Given the description of an element on the screen output the (x, y) to click on. 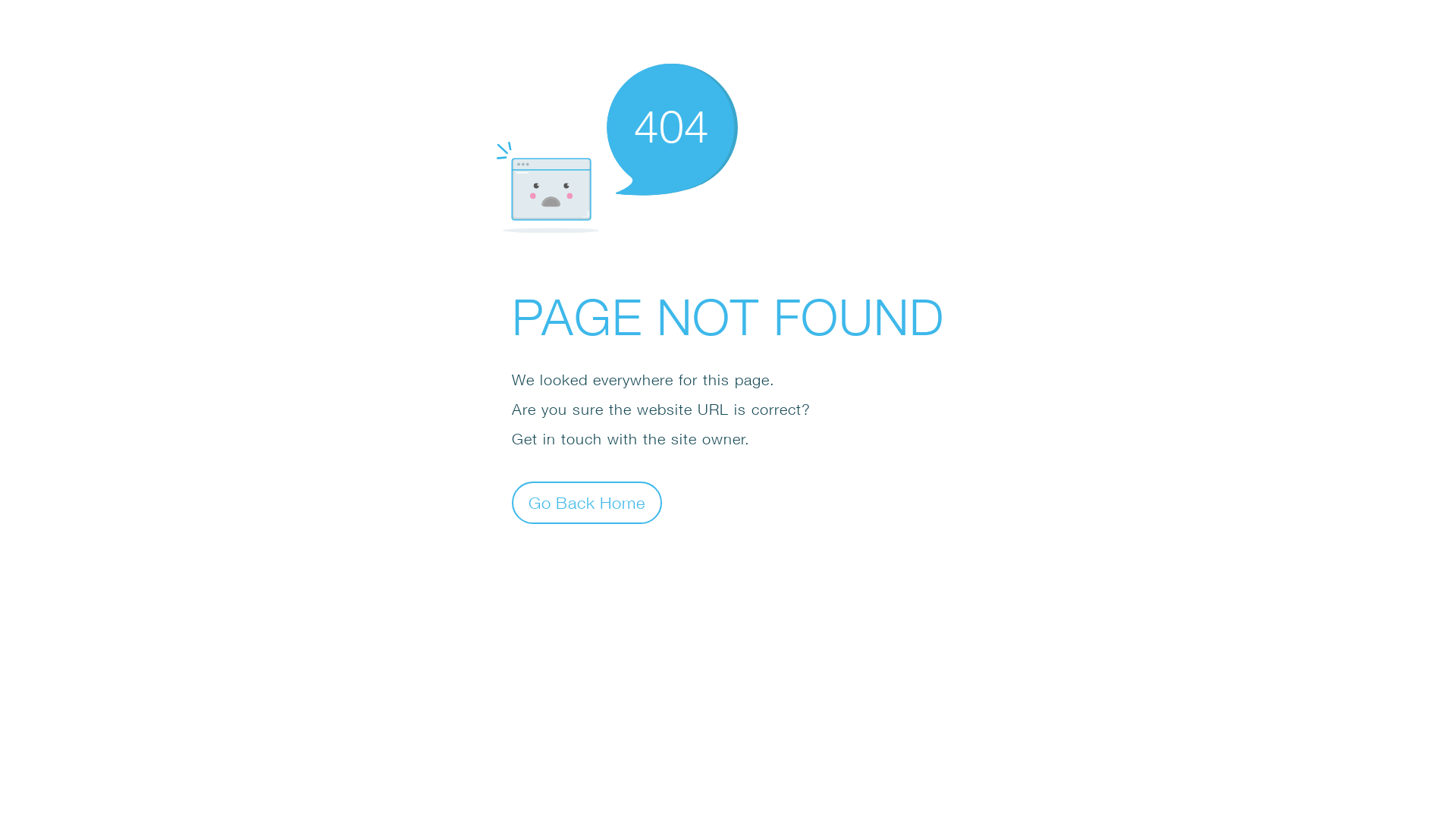
Go Back Home Element type: text (586, 502)
